Given the description of an element on the screen output the (x, y) to click on. 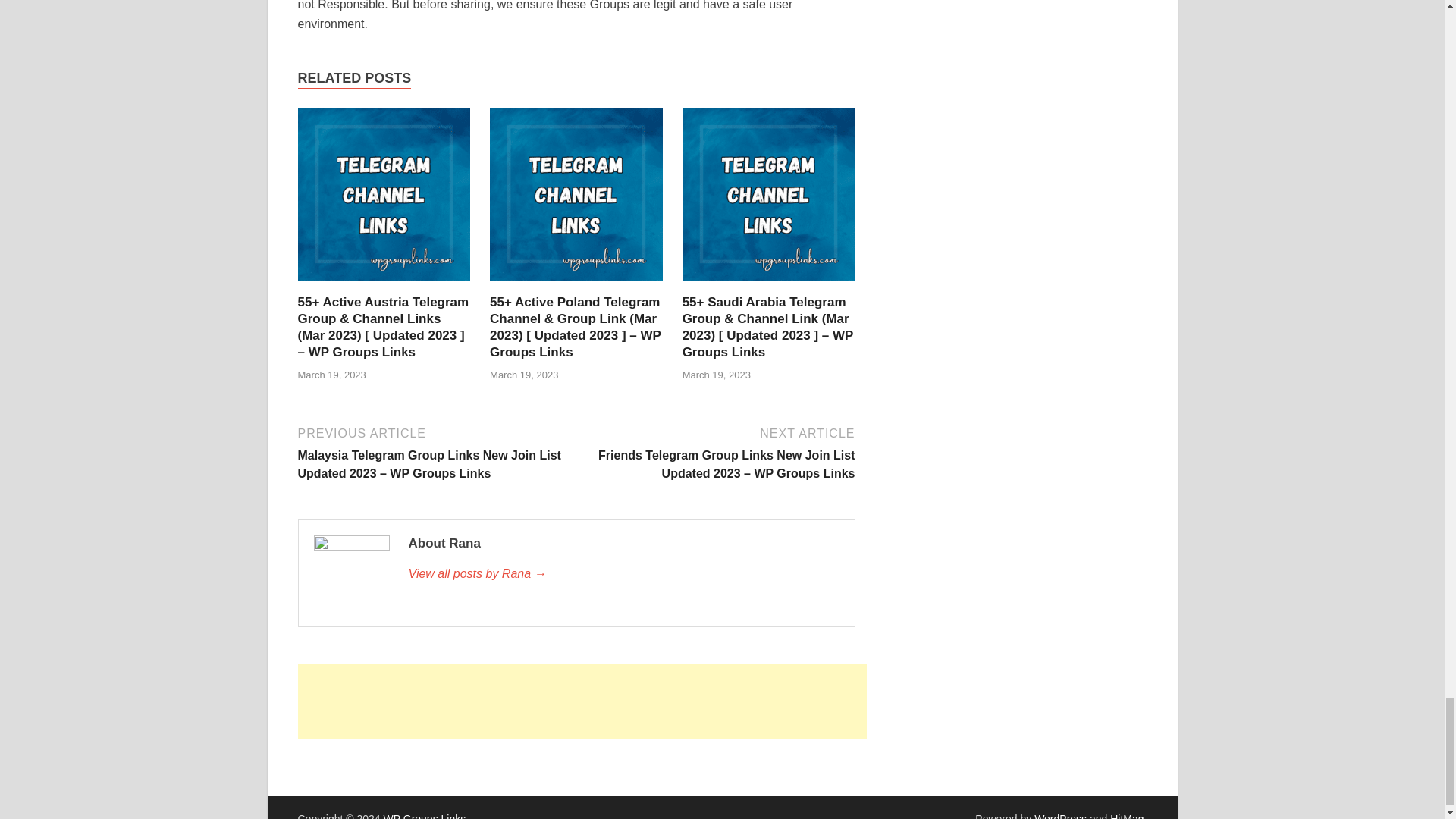
Rana (622, 574)
